Given the description of an element on the screen output the (x, y) to click on. 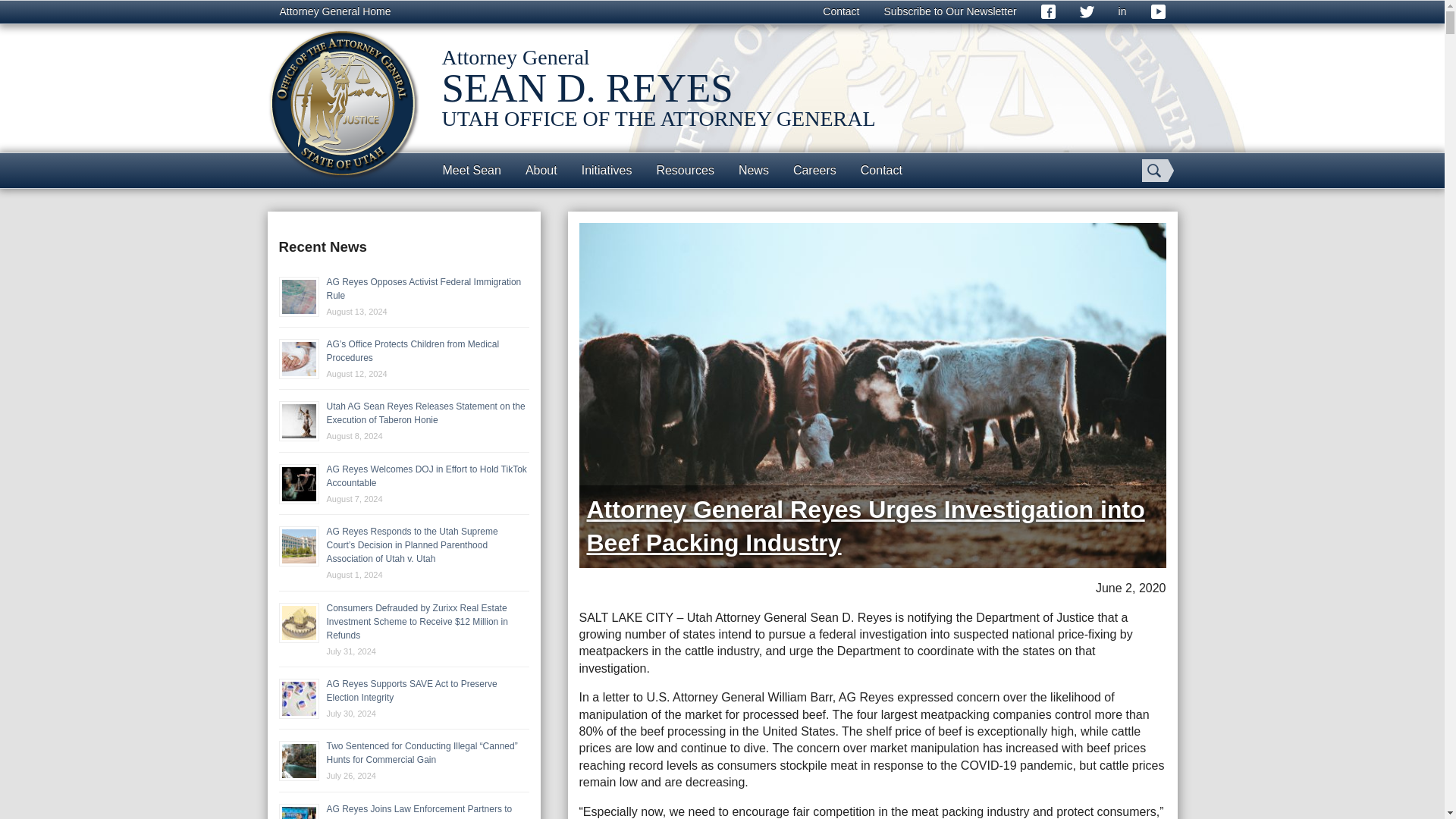
in (1122, 11)
Resources (684, 170)
Attorney General Home (334, 11)
Utah Office of the Attorney General (342, 103)
Meet Sean (471, 170)
YouTube (1157, 11)
Subscribe to Our Newsletter (950, 11)
Facebook (1048, 11)
Twitter (1086, 11)
